Given the description of an element on the screen output the (x, y) to click on. 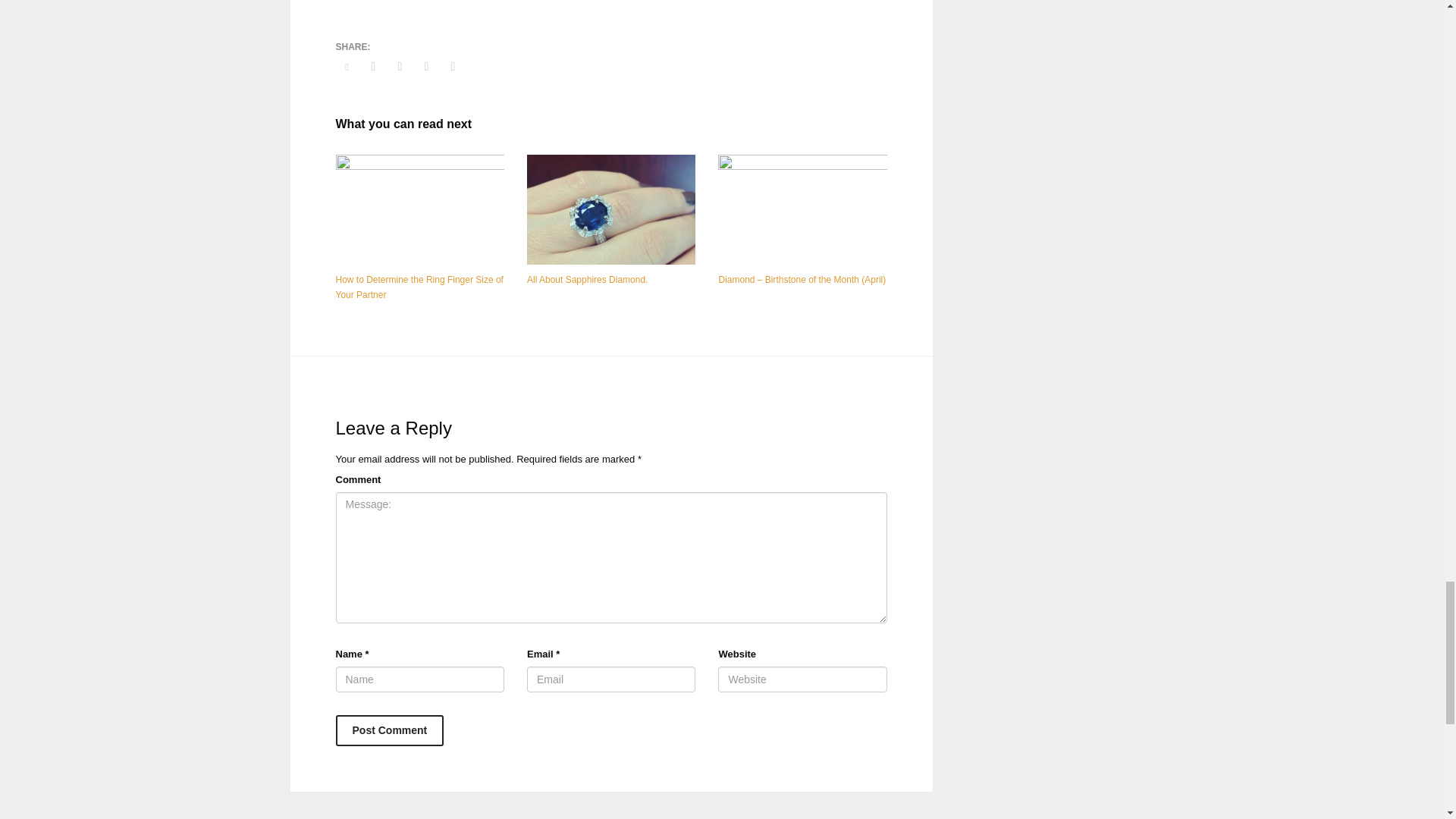
SHARE ON MAIL (452, 66)
jewellery-stock-images.jpg (801, 208)
Post Comment (389, 729)
SHARE ON GPLUS (399, 66)
ritani-sapphire-engagement-rings (611, 208)
SHARE ON PINTEREST (426, 66)
SHARE ON FACEBOOK (373, 66)
1506951850234.jpg (418, 208)
SHARE ON TWITTER (346, 67)
